Given the description of an element on the screen output the (x, y) to click on. 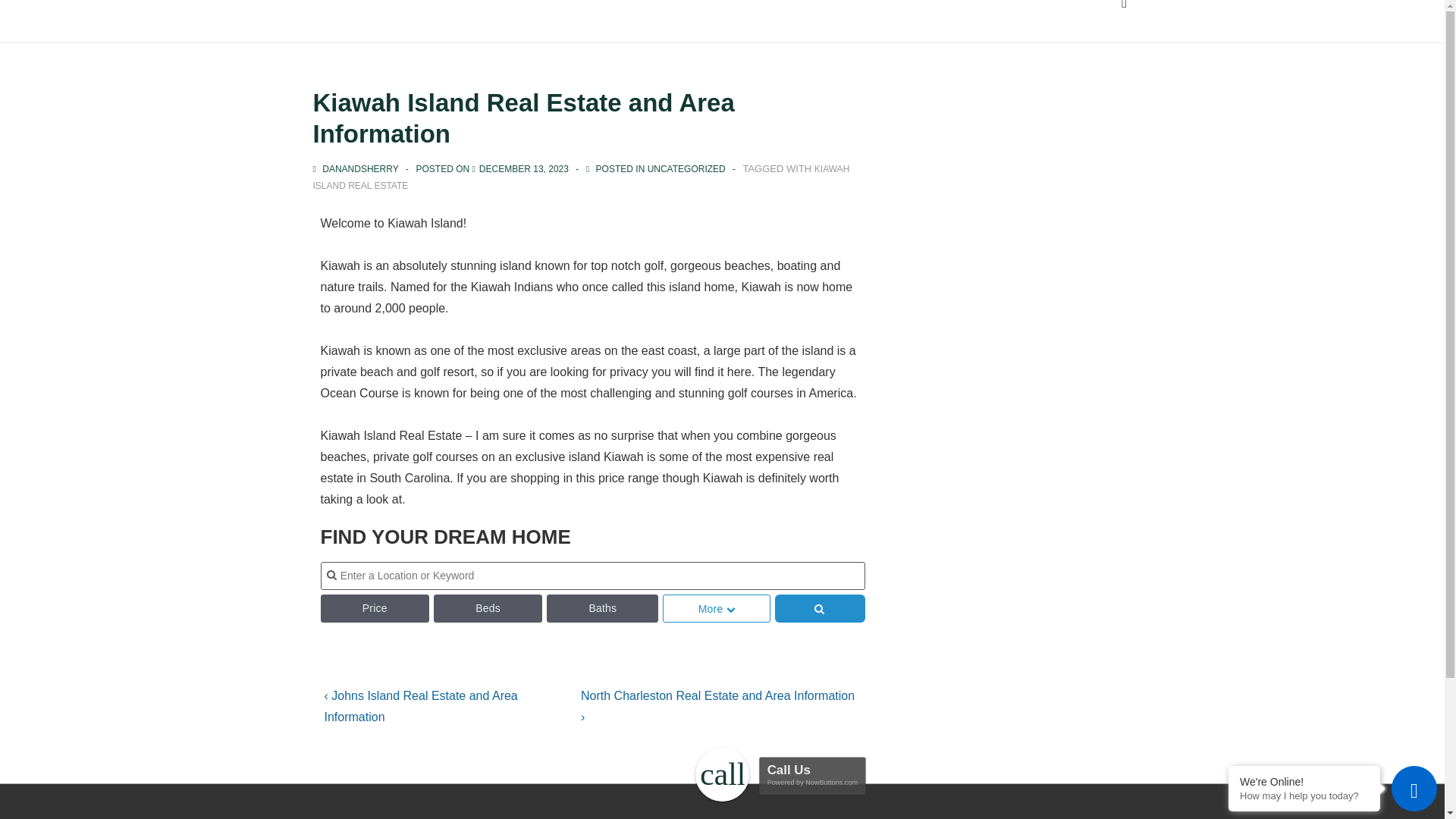
call (715, 768)
DECEMBER 13, 2023 (524, 168)
We're Online! (1304, 781)
View all posts by danandsherry (356, 168)
DANANDSHERRY (356, 168)
Kiawah Island Real Estate and Area Information (524, 168)
KIAWAH ISLAND REAL ESTATE (580, 177)
How may I help you today? (1304, 795)
